Given the description of an element on the screen output the (x, y) to click on. 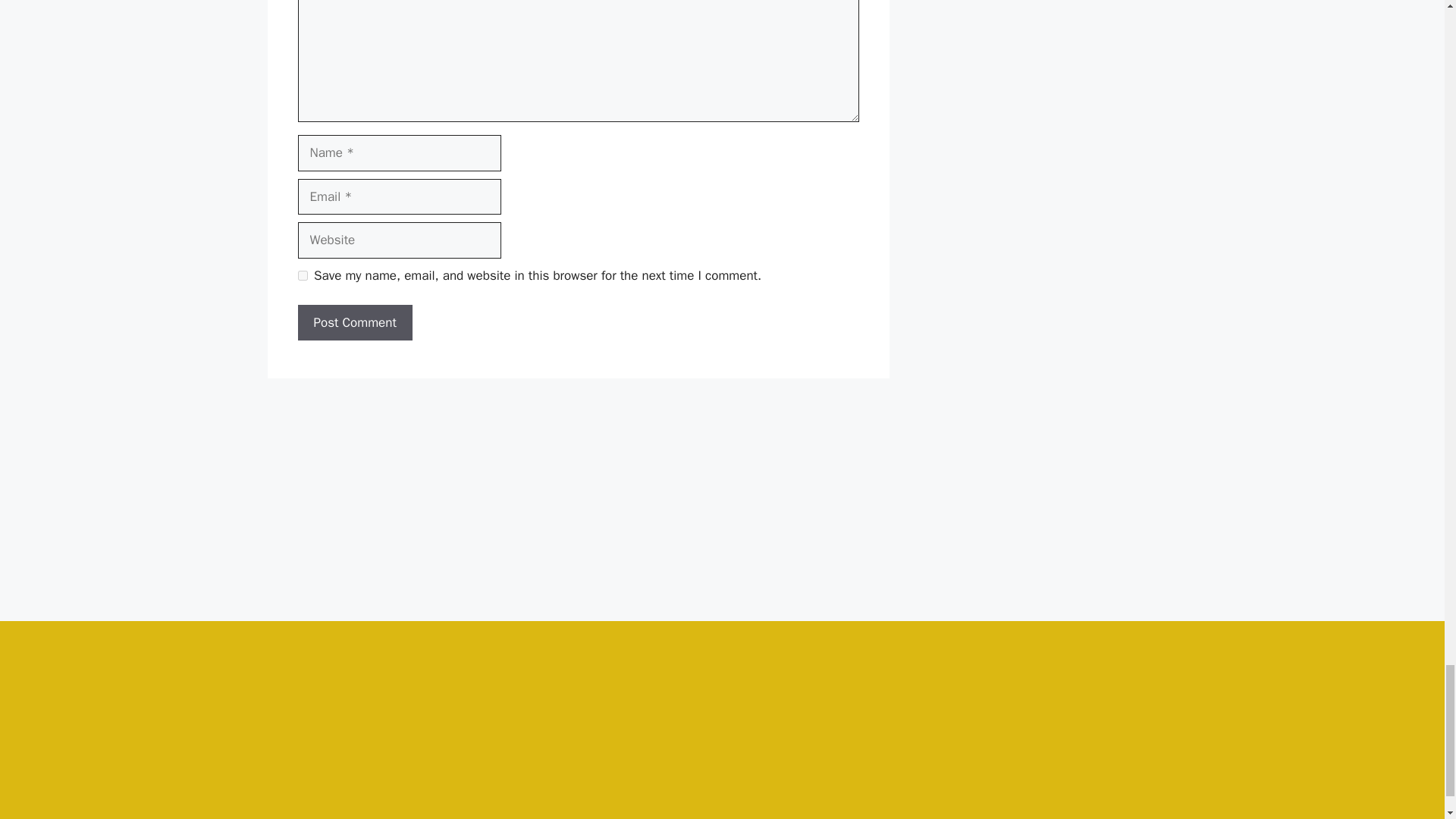
Post Comment (354, 322)
Post Comment (354, 322)
yes (302, 275)
